Given the description of an element on the screen output the (x, y) to click on. 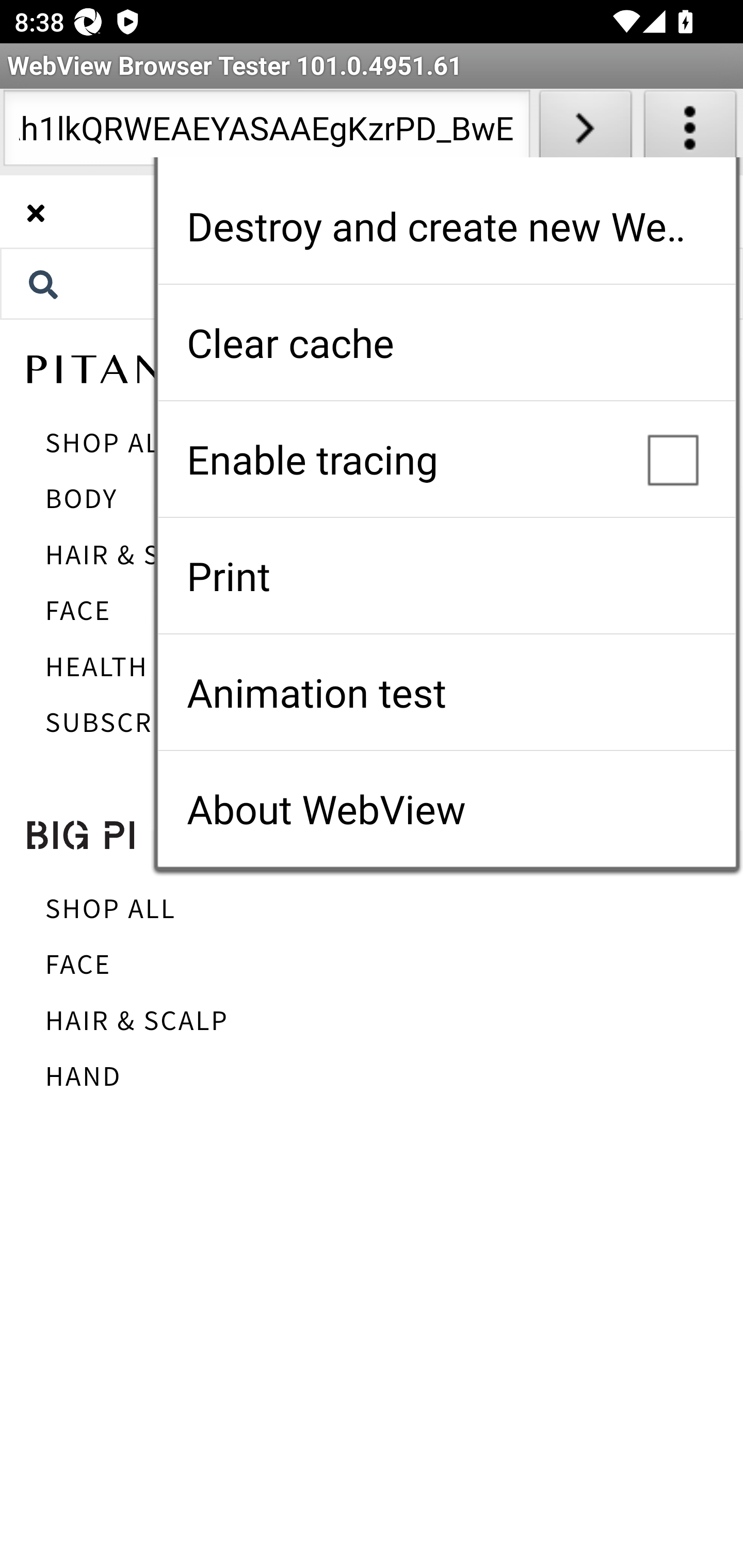
Destroy and create new WebView (446, 225)
Clear cache (446, 342)
Enable tracing (446, 459)
Print (446, 575)
Animation test (446, 692)
About WebView (446, 809)
